Given the description of an element on the screen output the (x, y) to click on. 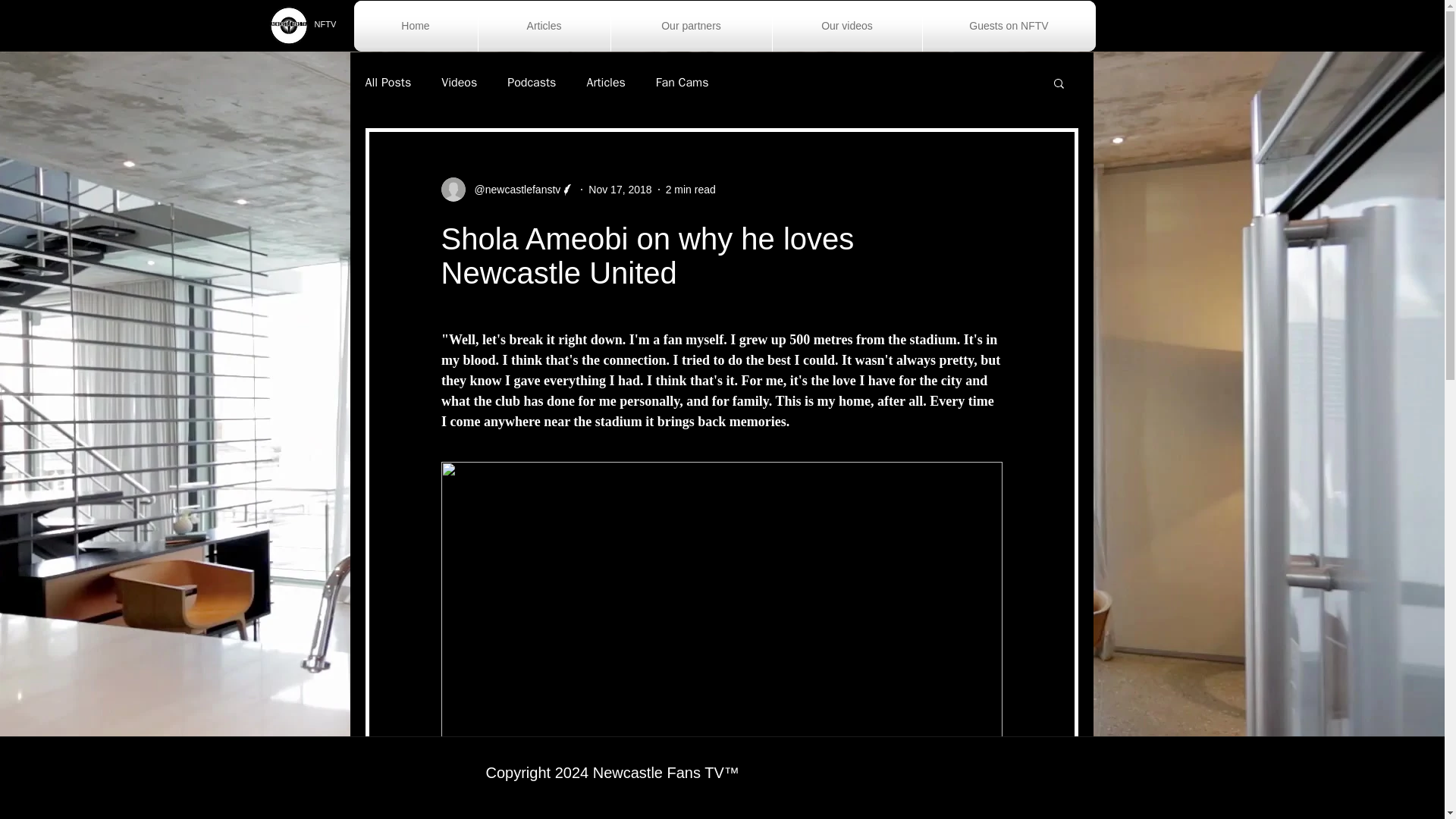
Articles (605, 82)
2 min read (690, 189)
Guests on NFTV (1007, 25)
Home (415, 25)
Nov 17, 2018 (619, 189)
Our videos (846, 25)
Fan Cams (682, 82)
Videos (459, 82)
All Posts (388, 82)
Articles (543, 25)
